Given the description of an element on the screen output the (x, y) to click on. 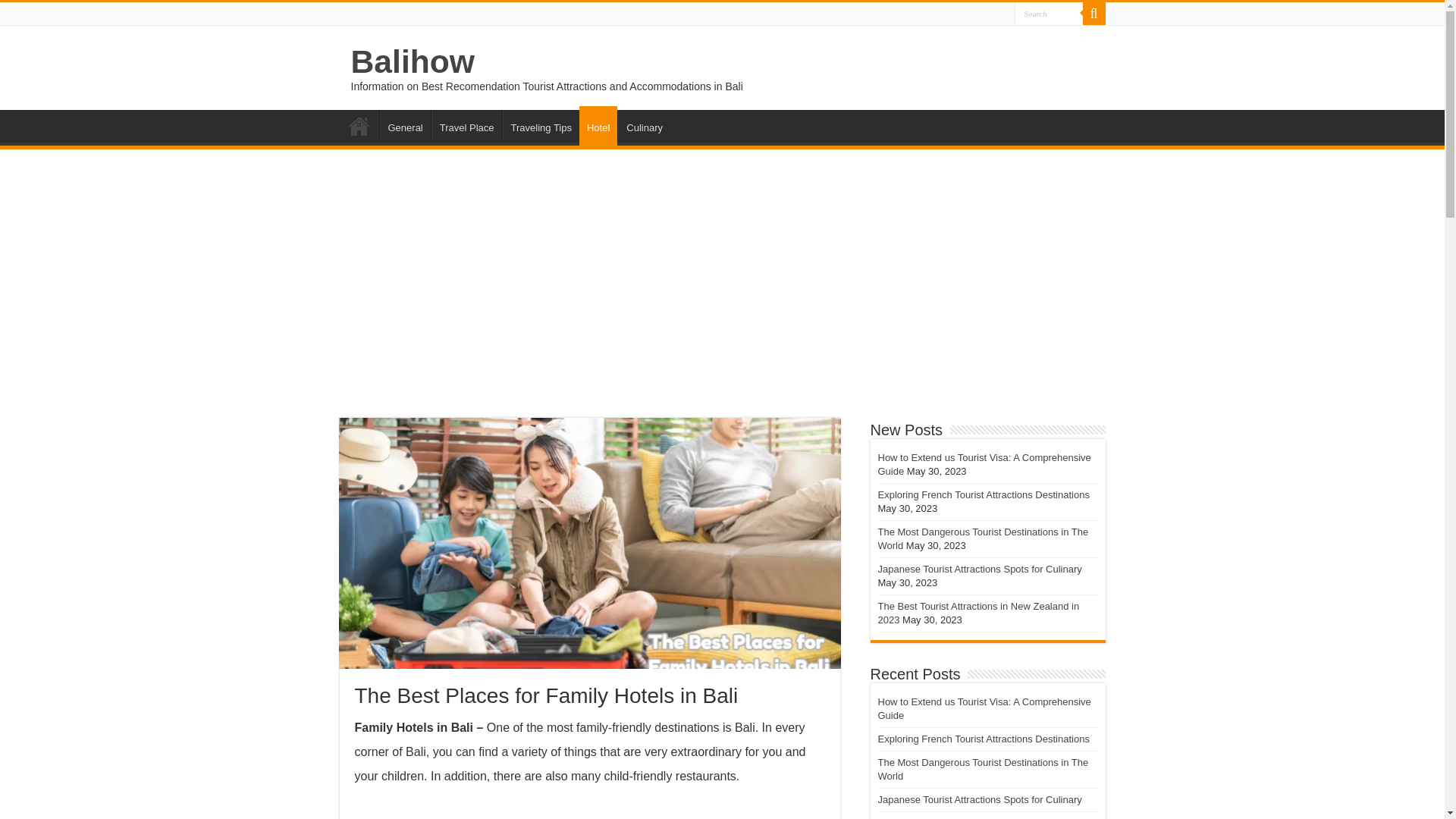
The Most Dangerous Tourist Destinations in The World (983, 538)
Japanese Tourist Attractions Spots for Culinary (979, 799)
Exploring French Tourist Attractions Destinations (983, 738)
Traveling Tips (540, 125)
How to Extend us Tourist Visa: A Comprehensive Guide (983, 708)
Travel Place (466, 125)
Japanese Tourist Attractions Spots for Culinary (979, 568)
Search (1094, 13)
The Best Tourist Attractions in New Zealand in 2023 (978, 612)
